Given the description of an element on the screen output the (x, y) to click on. 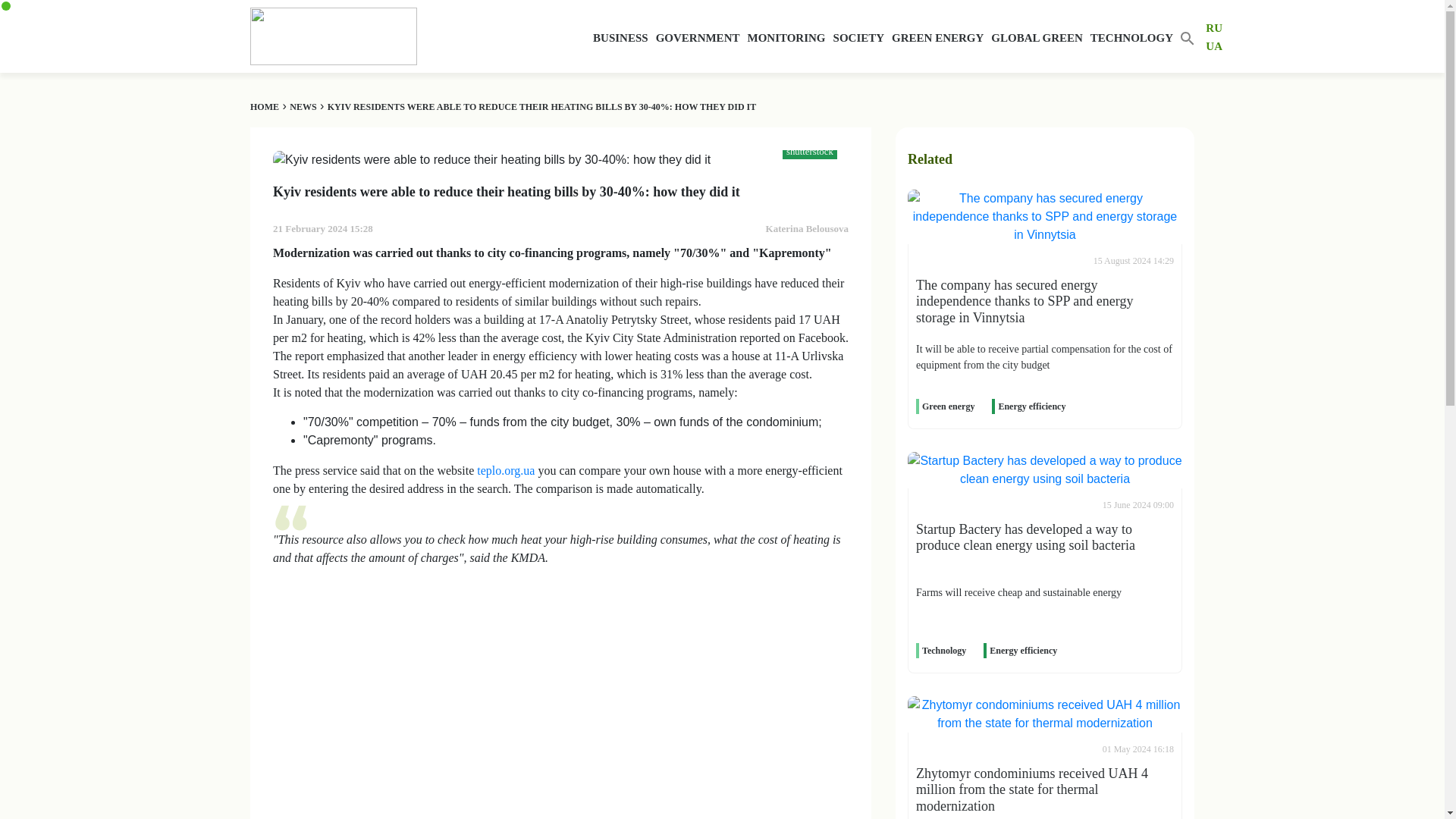
Green energy (947, 406)
MONITORING (785, 37)
GOVERNMENT (697, 37)
TECHNOLOGY (1131, 37)
BUSINESS (619, 37)
NEWS (302, 106)
SOCIETY (858, 37)
Technology (943, 650)
Energy efficiency (1031, 406)
